Given the description of an element on the screen output the (x, y) to click on. 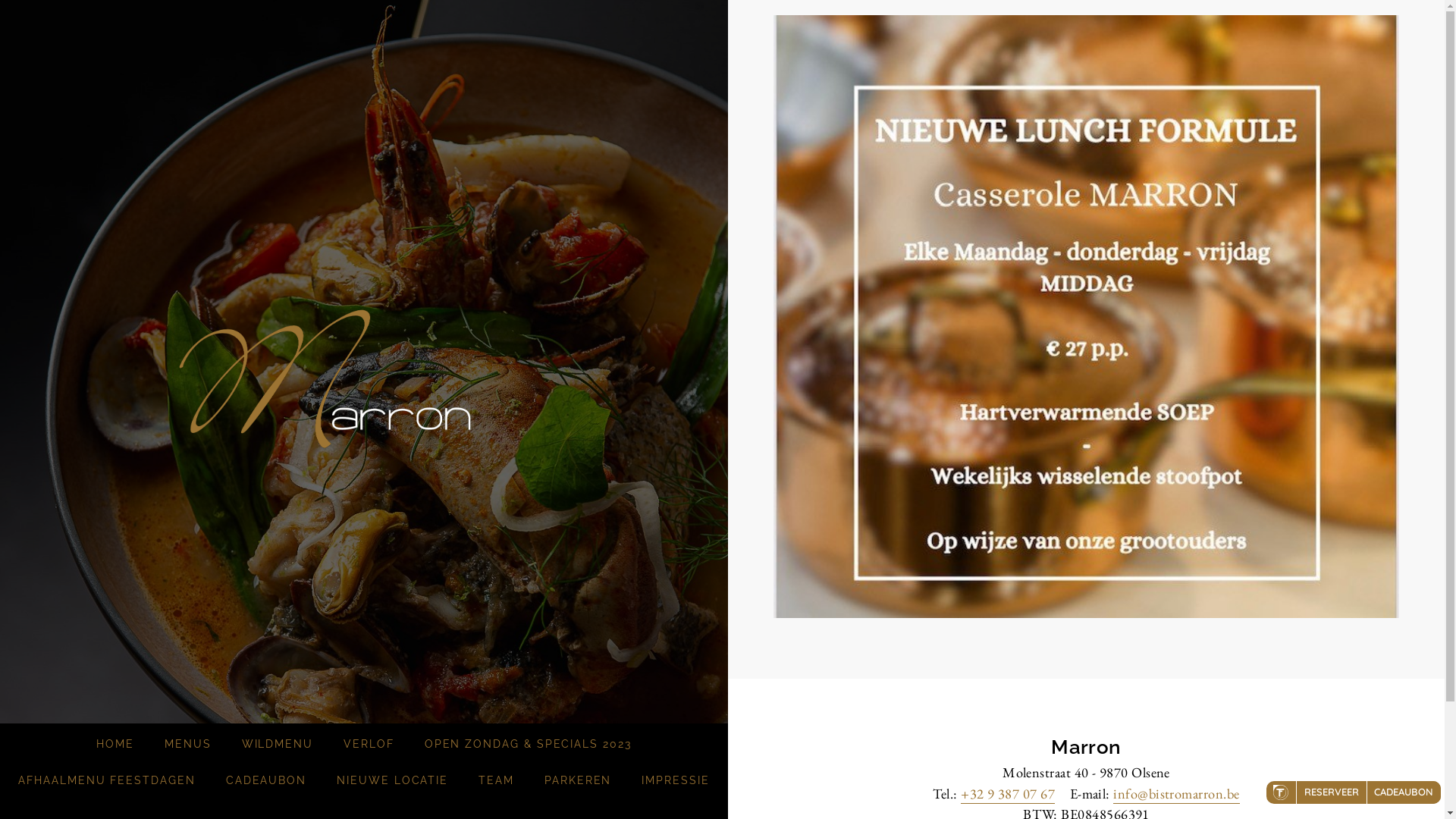
WILDMENU Element type: text (277, 743)
AFHAALMENU FEESTDAGEN Element type: text (106, 780)
MENUS Element type: text (187, 743)
+32 9 387 07 67 Element type: text (1007, 793)
CADEAUBON Element type: text (265, 780)
VERLOF Element type: text (368, 743)
OPEN ZONDAG & SPECIALS 2023 Element type: text (527, 743)
PARKEREN Element type: text (577, 780)
HOME Element type: text (115, 743)
IMPRESSIE Element type: text (675, 780)
NIEUWE LOCATIE Element type: text (392, 780)
TEAM Element type: text (496, 780)
info@bistromarron.be Element type: text (1176, 793)
